Given the description of an element on the screen output the (x, y) to click on. 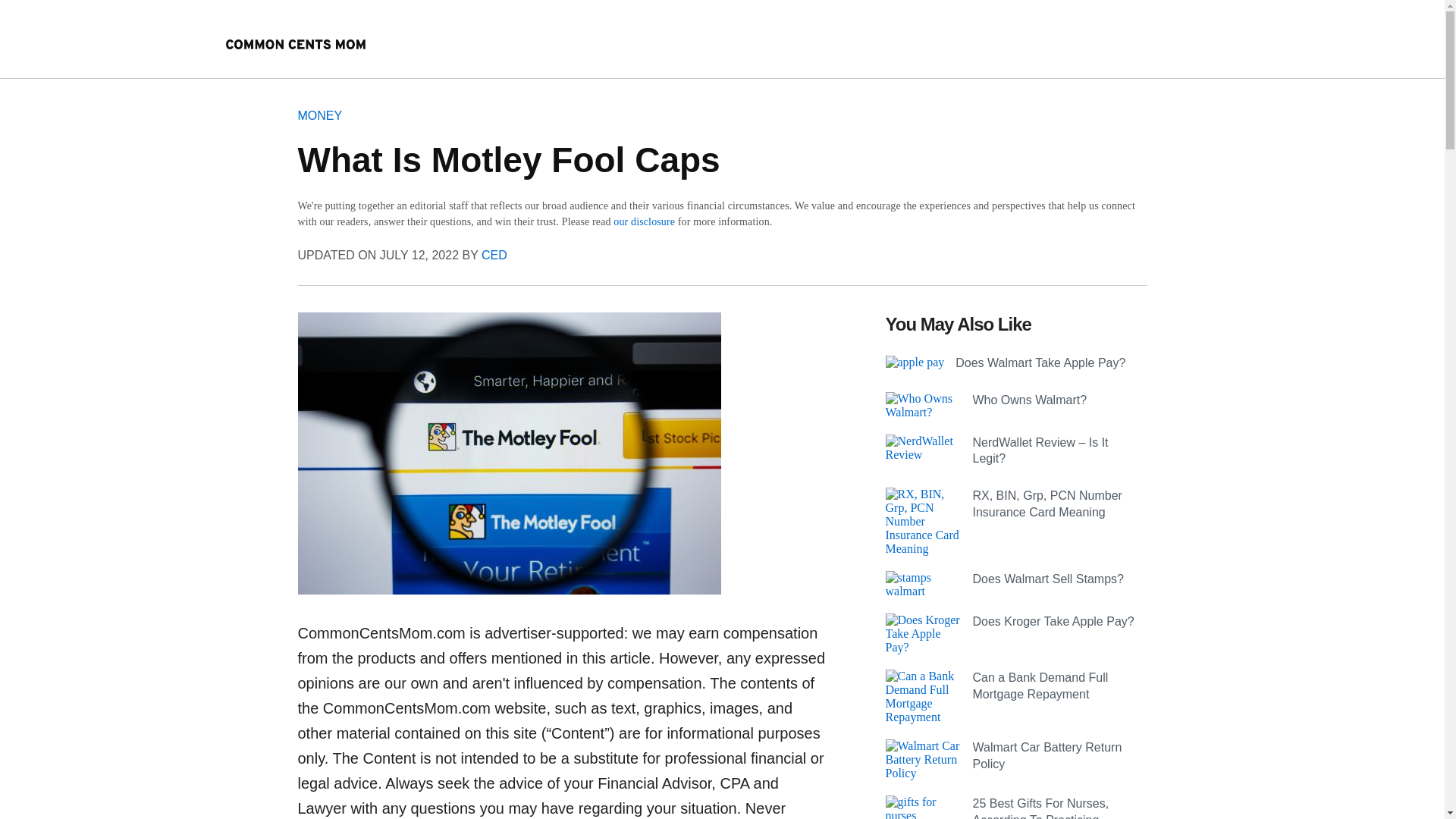
our disclosure (643, 221)
Walmart Car Battery Return Policy (1046, 755)
25 Best Gifts For Nurses, According To Practicing Nurses (1040, 807)
RX, BIN, Grp, PCN Number Insurance Card Meaning (1046, 503)
CED (493, 254)
Does Walmart Take Apple Pay? (1040, 362)
Posts by ced (493, 254)
Can a Bank Demand Full Mortgage Repayment (1040, 685)
Does Kroger Take Apple Pay? (1053, 621)
Who Owns Walmart? (1029, 399)
